Given the description of an element on the screen output the (x, y) to click on. 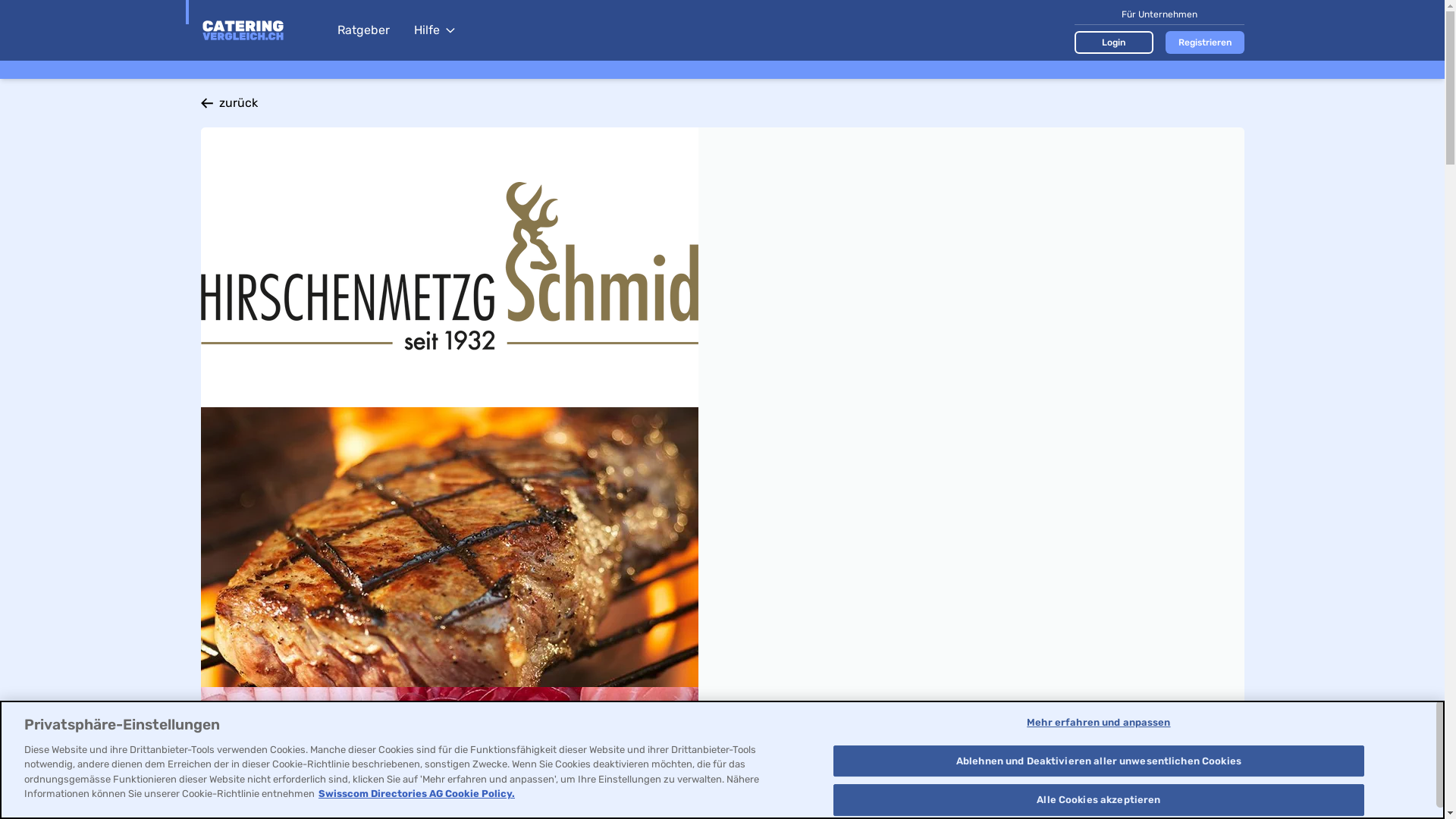
Ablehnen und Deaktivieren aller unwesentlichen Cookies Element type: text (1098, 761)
Login Element type: text (1112, 41)
Registrieren Element type: text (1203, 41)
Alle Cookies akzeptieren Element type: text (1098, 799)
Hilfe Element type: text (434, 30)
Zur Startseite Element type: hover (260, 30)
Mehr erfahren und anpassen Element type: text (1098, 722)
Ratgeber Element type: text (362, 30)
Swisscom Directories AG Cookie Policy. Element type: text (416, 793)
